Given the description of an element on the screen output the (x, y) to click on. 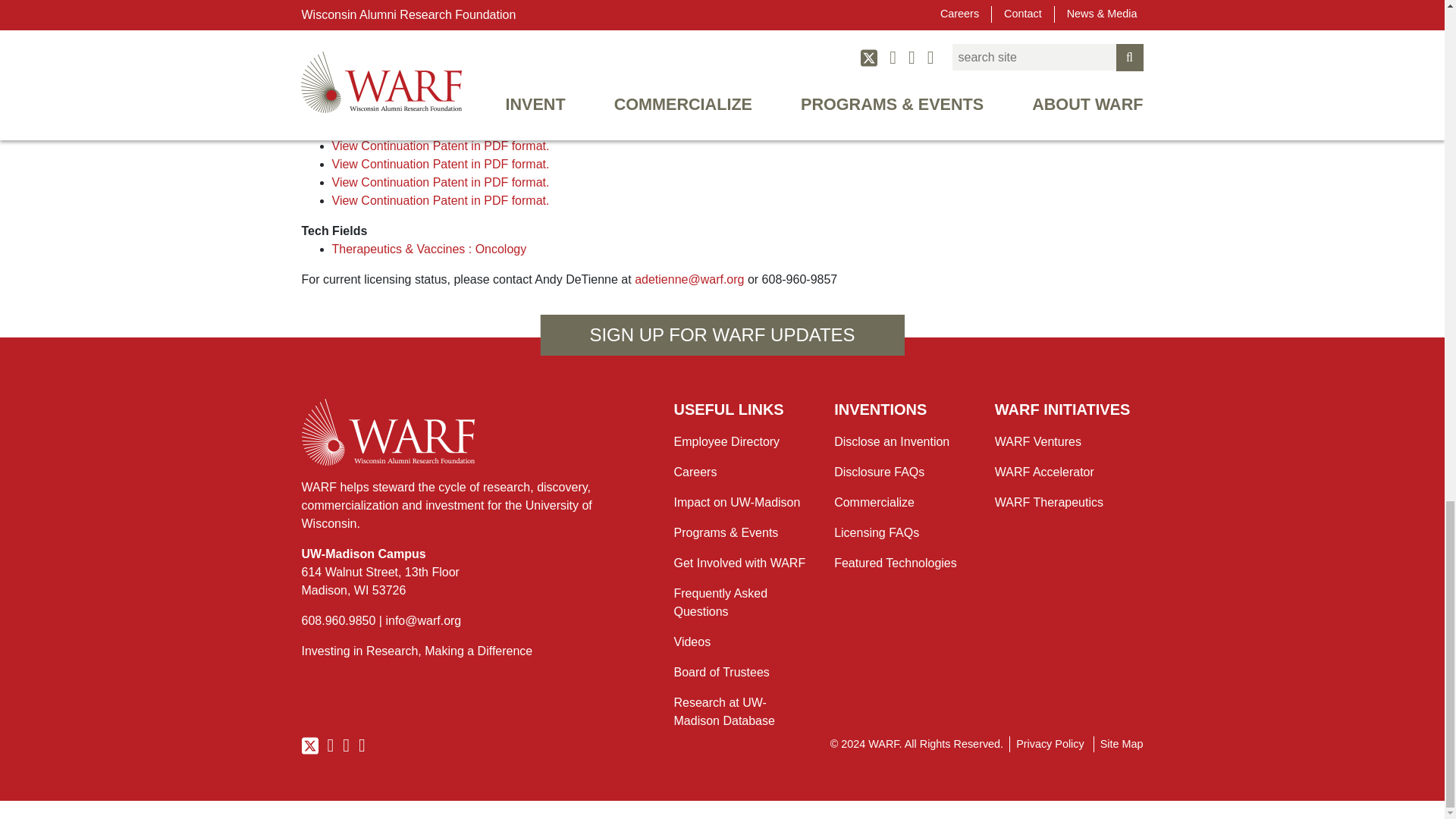
Research at UW-Madison Database (740, 711)
Disclosure FAQs (902, 472)
WARF (388, 432)
Commercialize (902, 502)
Board of Trustees (740, 672)
Careers (740, 472)
Frequently Asked Questions (740, 602)
Impact on UW-Madison (740, 502)
Get Involved with WARF (740, 562)
Employee Directory (740, 441)
